Given the description of an element on the screen output the (x, y) to click on. 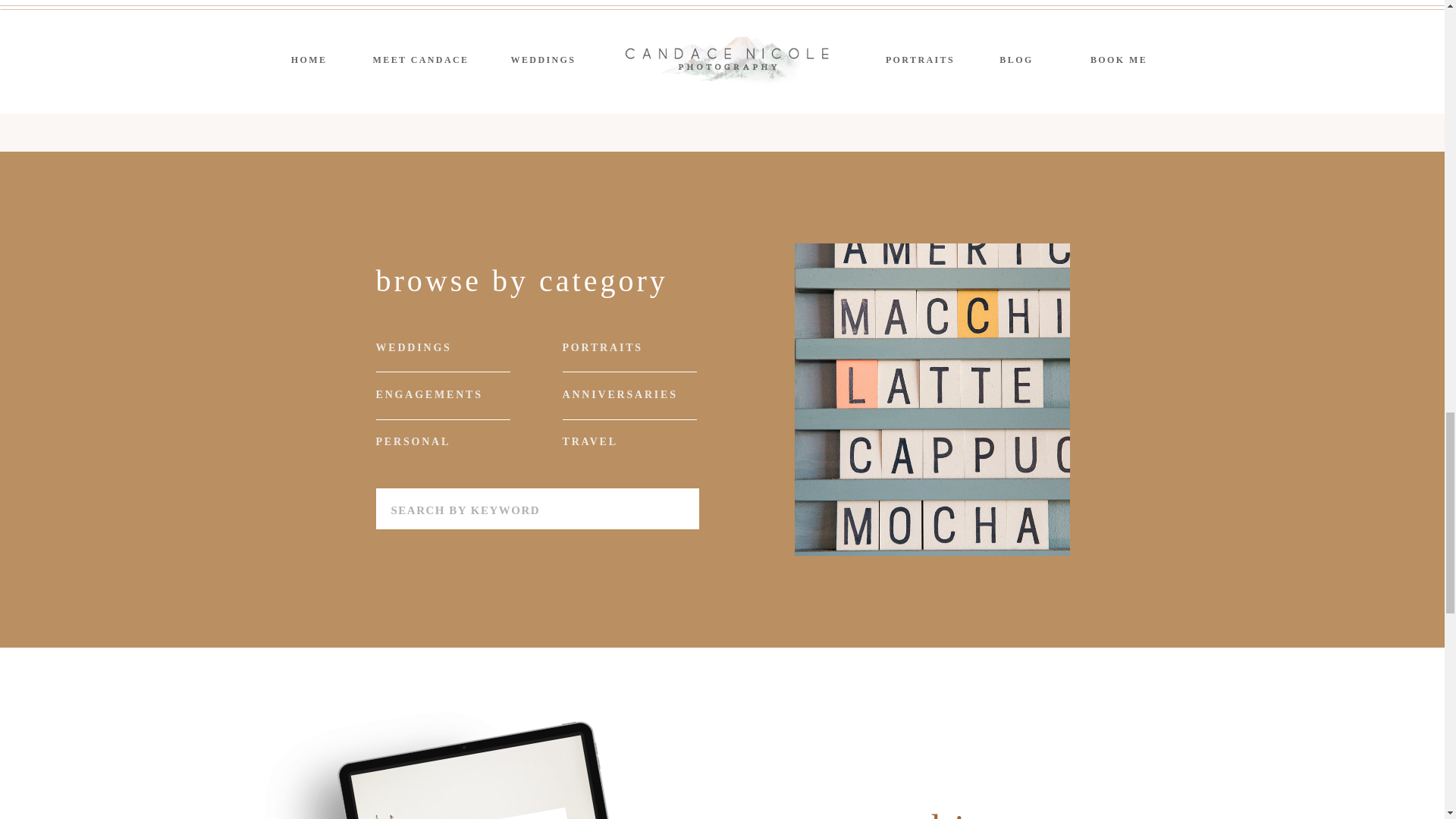
ENGAGEMENTS (452, 394)
WEDDINGS (448, 346)
TRAVEL (631, 441)
PERSONAL (445, 441)
PORTRAITS (635, 346)
ANNIVERSARIES (639, 394)
